Given the description of an element on the screen output the (x, y) to click on. 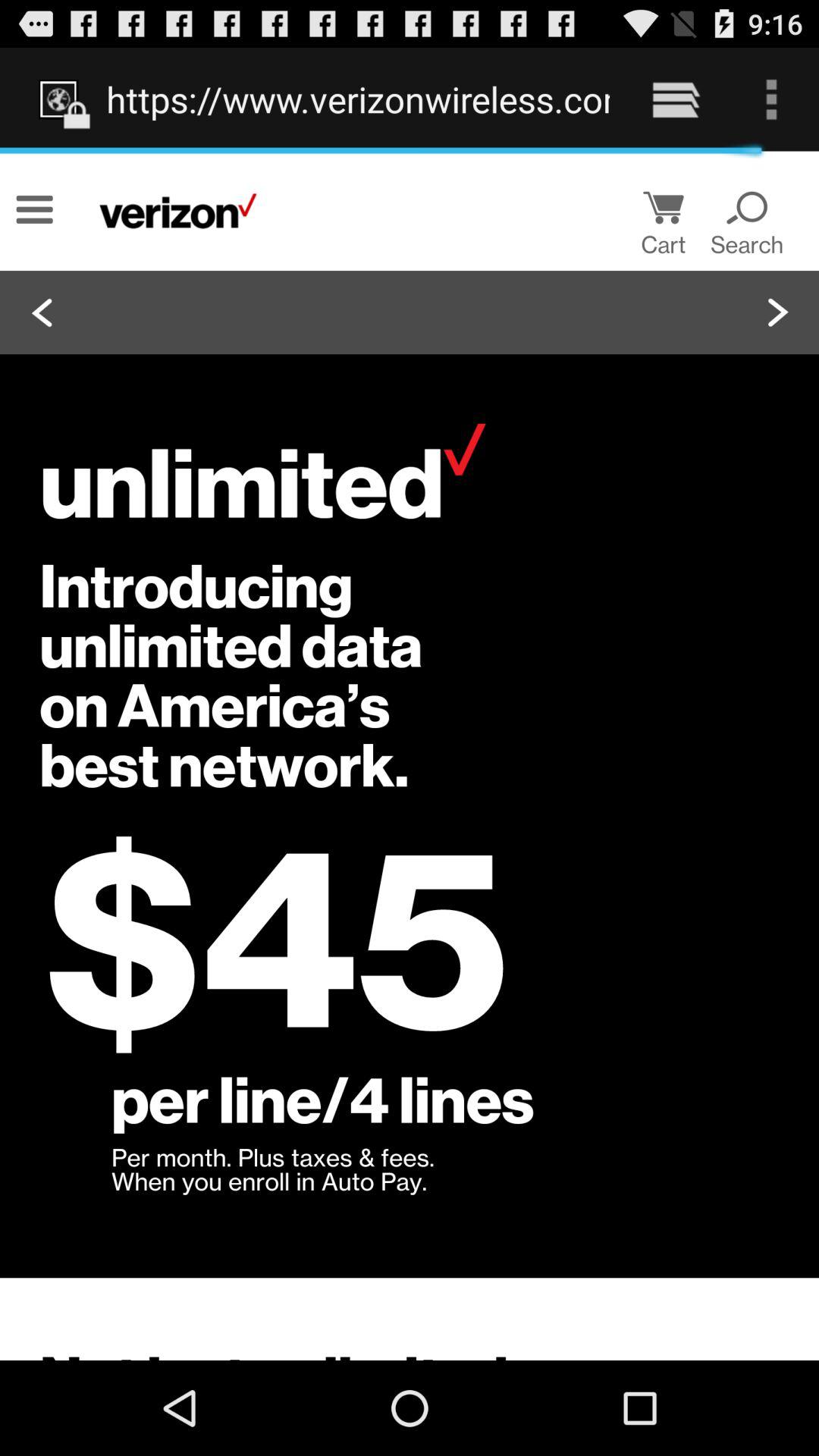
press icon at the center (409, 755)
